Given the description of an element on the screen output the (x, y) to click on. 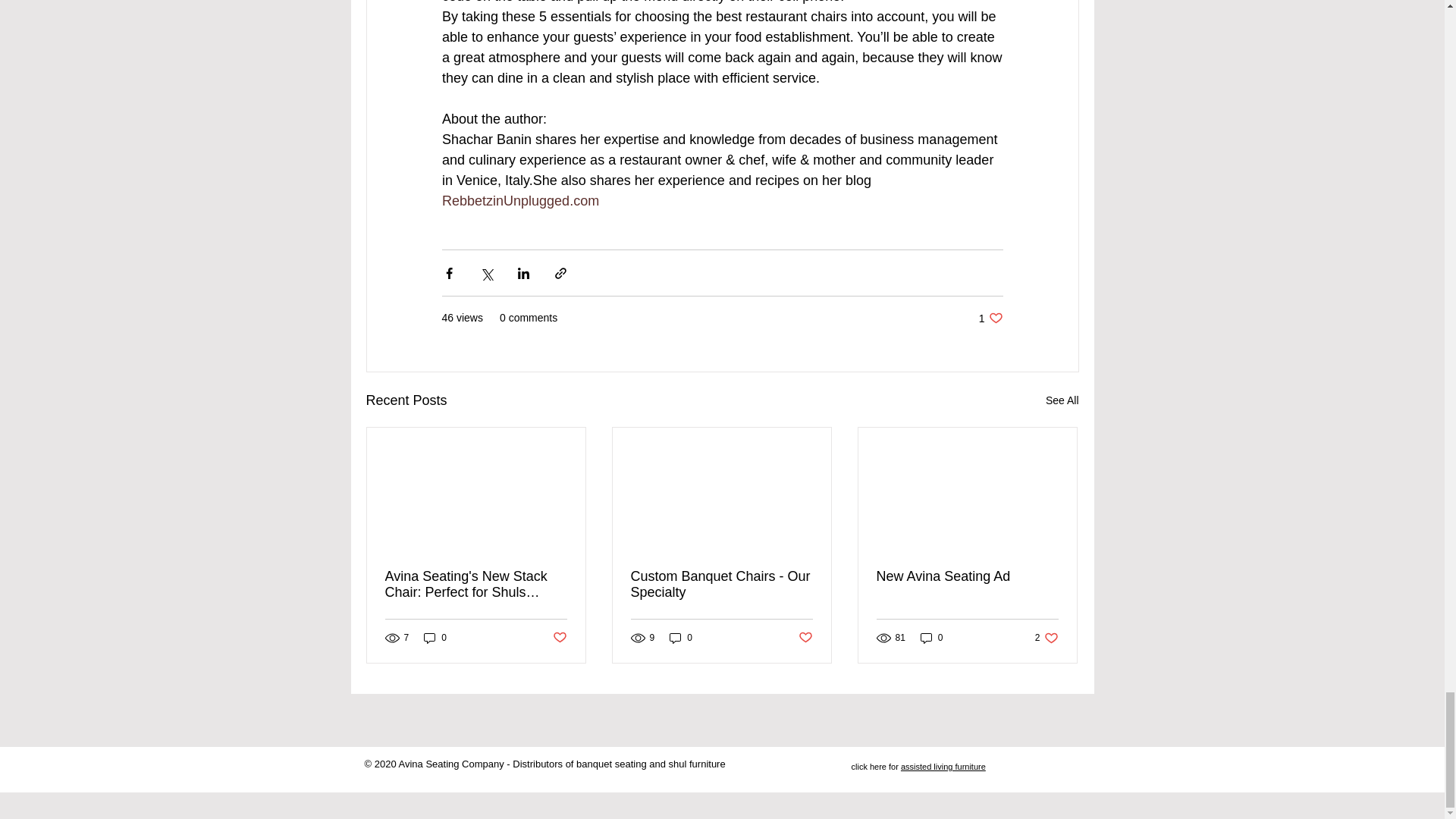
RebbetzinUnplugged.com (519, 200)
Post not marked as liked (804, 637)
0 (990, 318)
See All (435, 637)
0 (1061, 400)
0 (681, 637)
Custom Banquet Chairs - Our Specialty (931, 637)
Post not marked as liked (721, 584)
New Avina Seating Ad (558, 637)
